Given the description of an element on the screen output the (x, y) to click on. 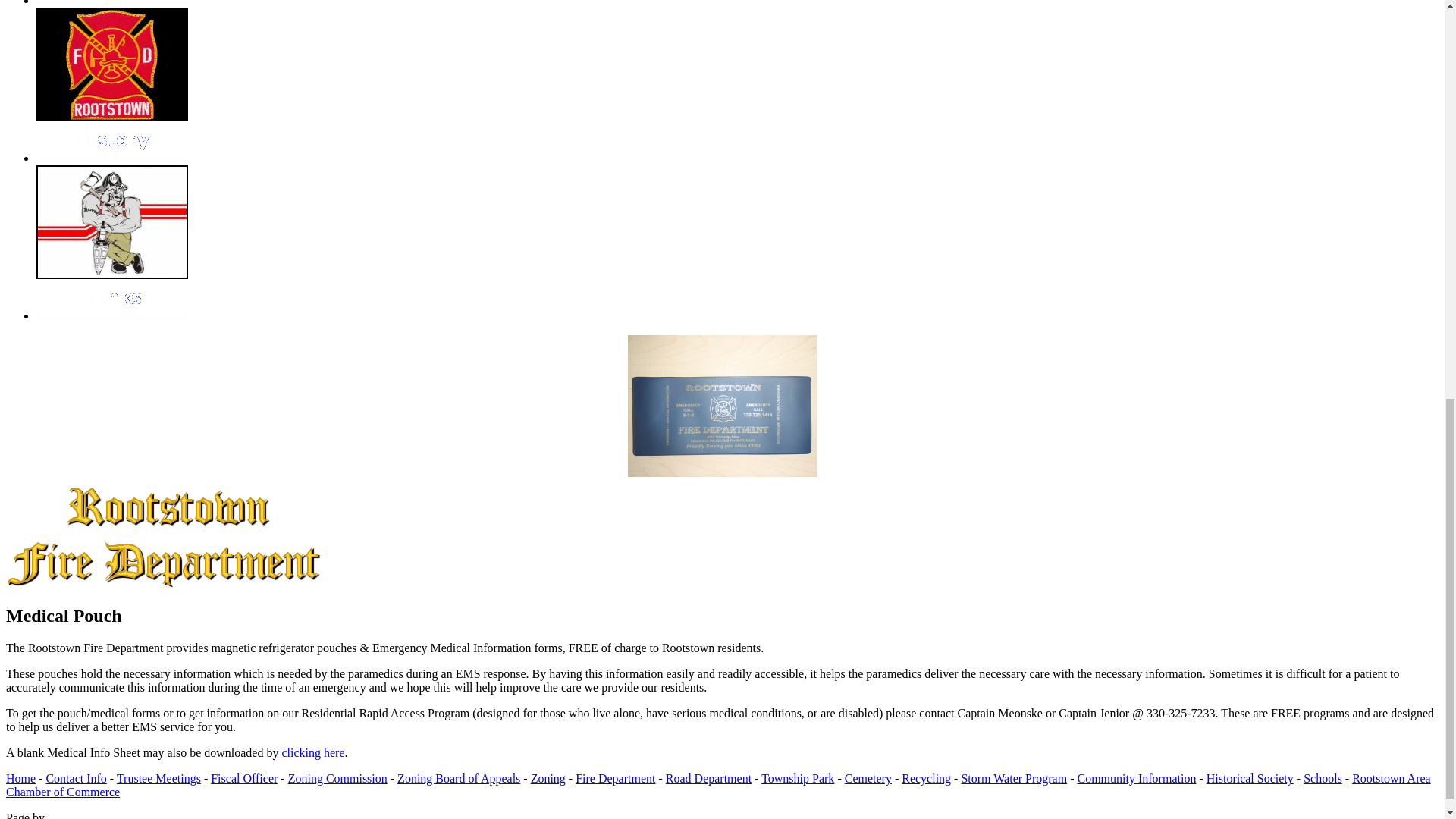
Zoning Commission (337, 778)
Trustee Meetings (158, 778)
Zoning (548, 778)
clicking here (312, 752)
Fiscal Officer (244, 778)
Home (19, 778)
Zoning Board of Appeals (458, 778)
Contact Info (75, 778)
